Given the description of an element on the screen output the (x, y) to click on. 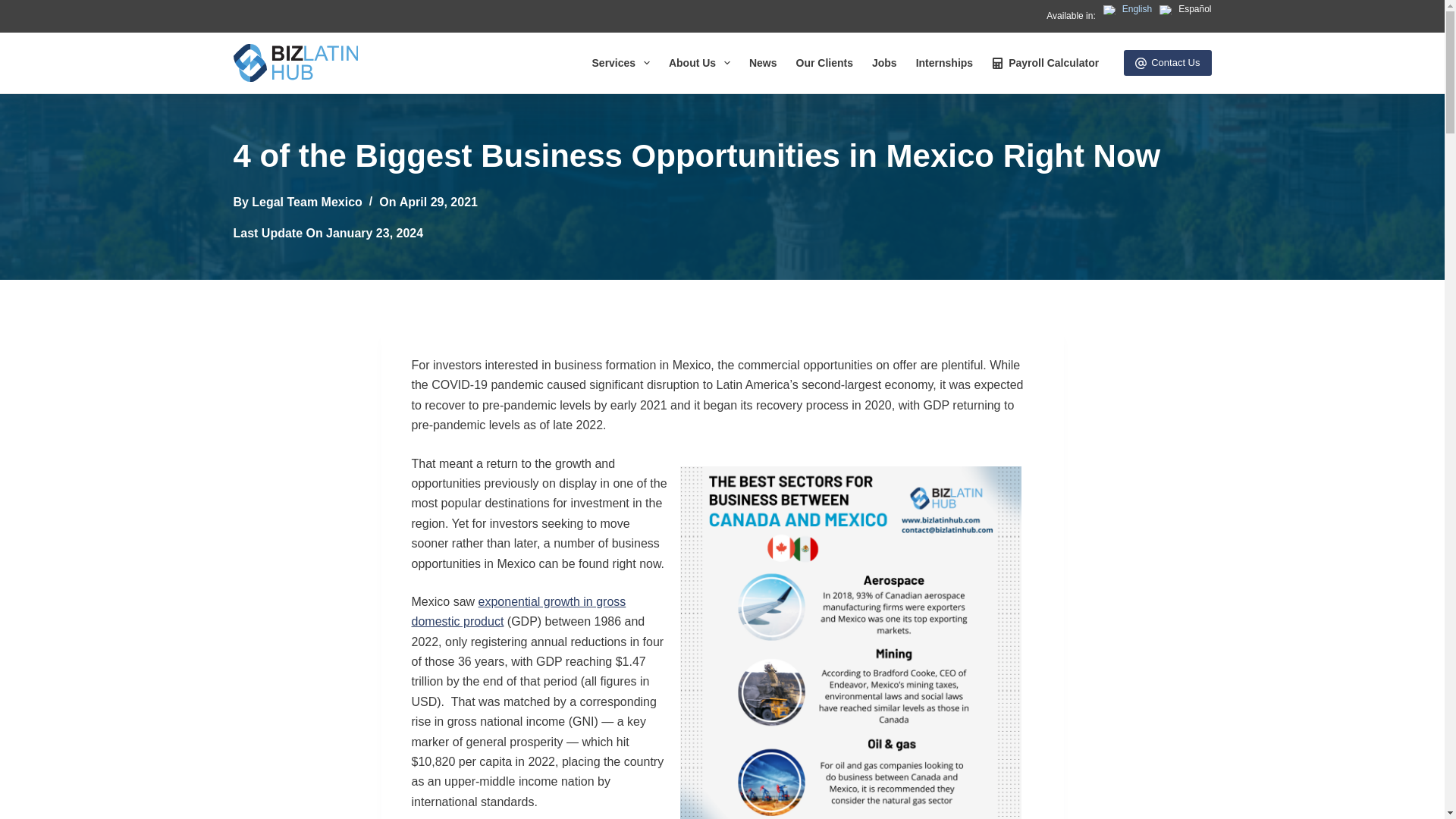
4 of the Biggest Business Opportunities in Mexico Right Now (721, 155)
English (1127, 9)
About Us (699, 63)
Skip to content (15, 7)
Posts by Legal Team Mexico (306, 201)
Services (620, 63)
